Given the description of an element on the screen output the (x, y) to click on. 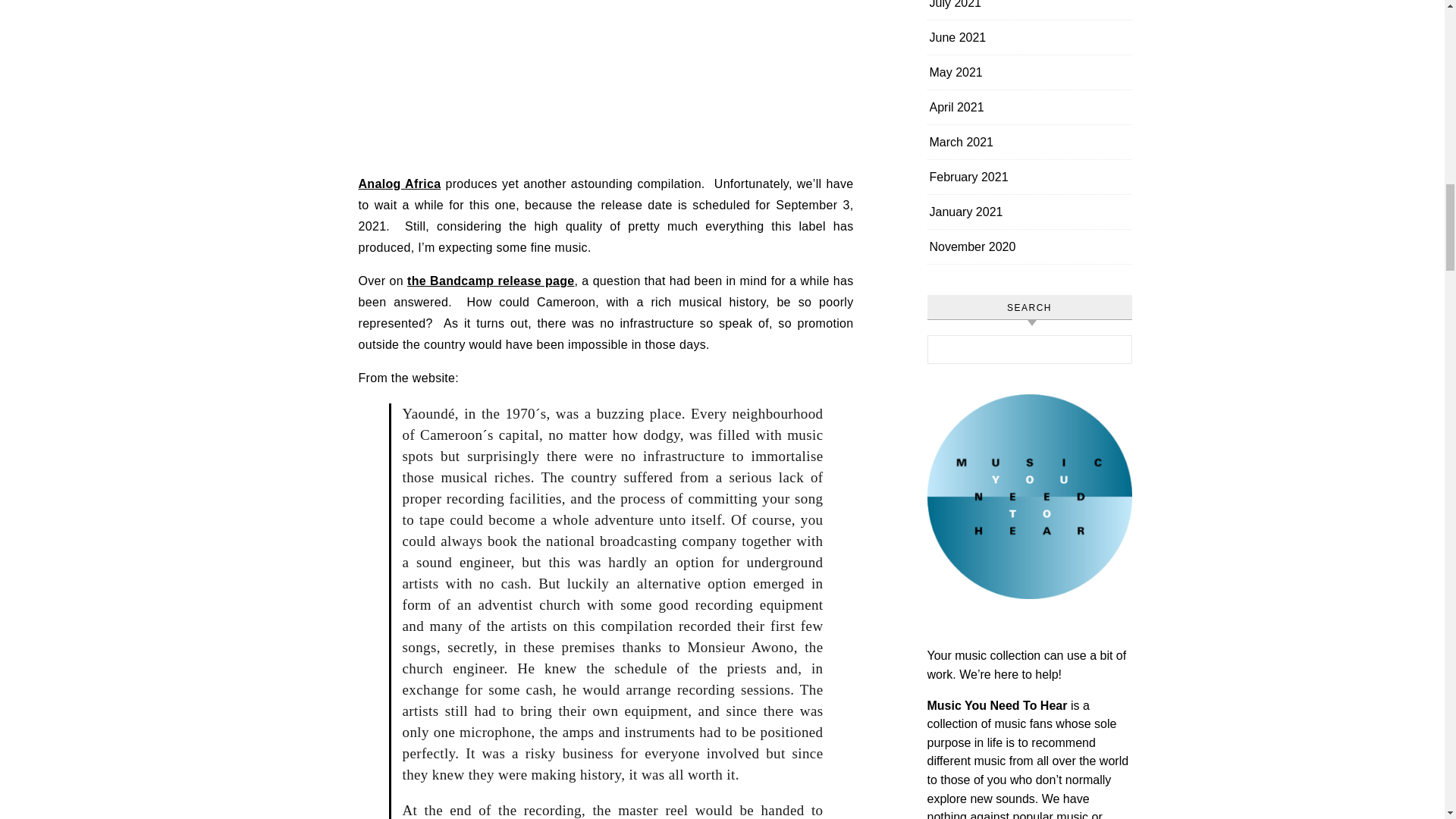
Analog Africa (399, 183)
the Bandcamp release page (491, 280)
